Given the description of an element on the screen output the (x, y) to click on. 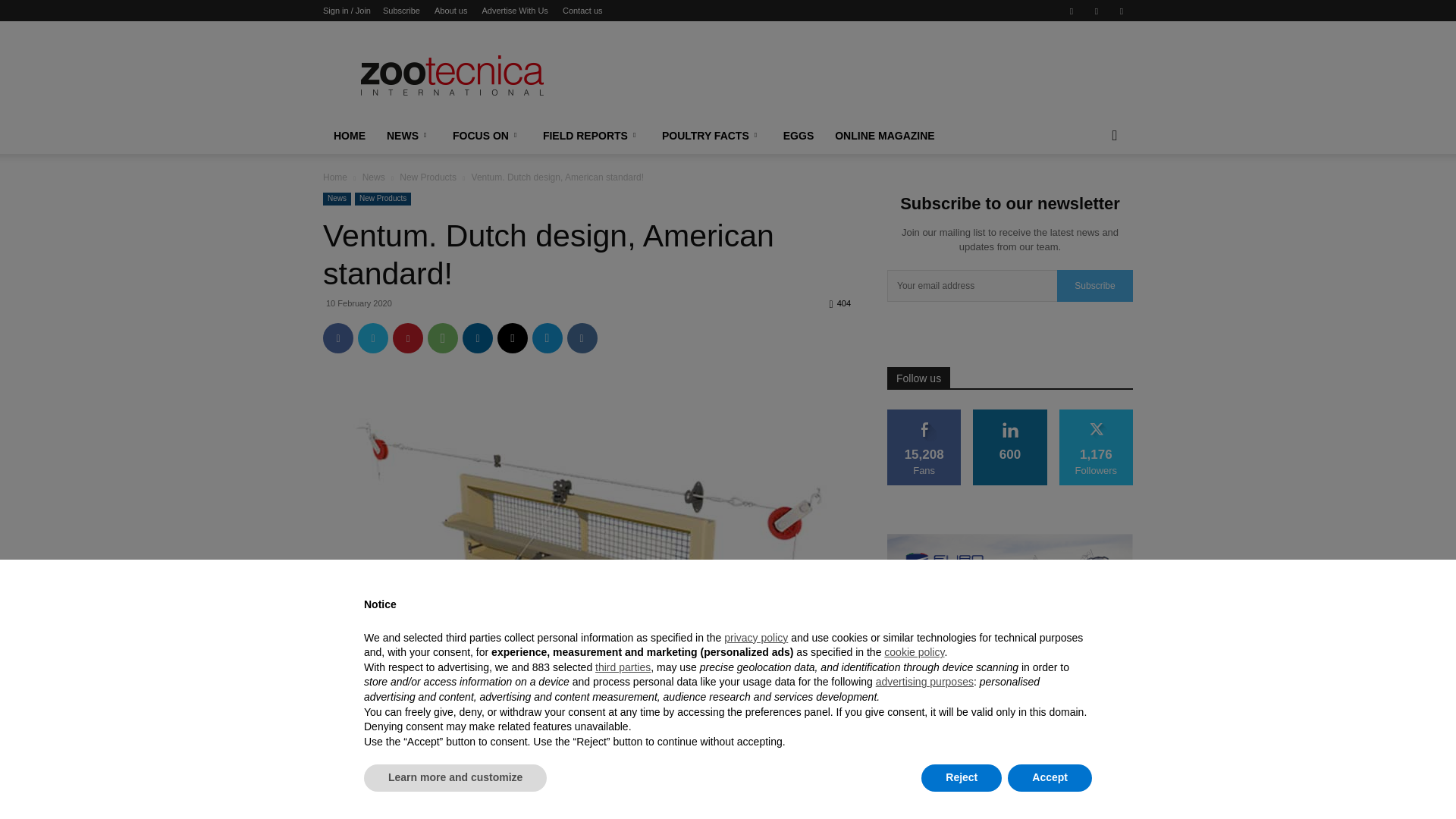
Twitter (373, 337)
View all posts in New Products (427, 176)
Advertise With Us (514, 10)
WhatsApp (443, 337)
View all posts in News (373, 176)
Contact us (582, 10)
Facebook (1071, 10)
Pinterest (408, 337)
Subscribe (401, 10)
Linkedin (1096, 10)
Zootecnica International - Poultry Magazine (451, 76)
About us (450, 10)
